Given the description of an element on the screen output the (x, y) to click on. 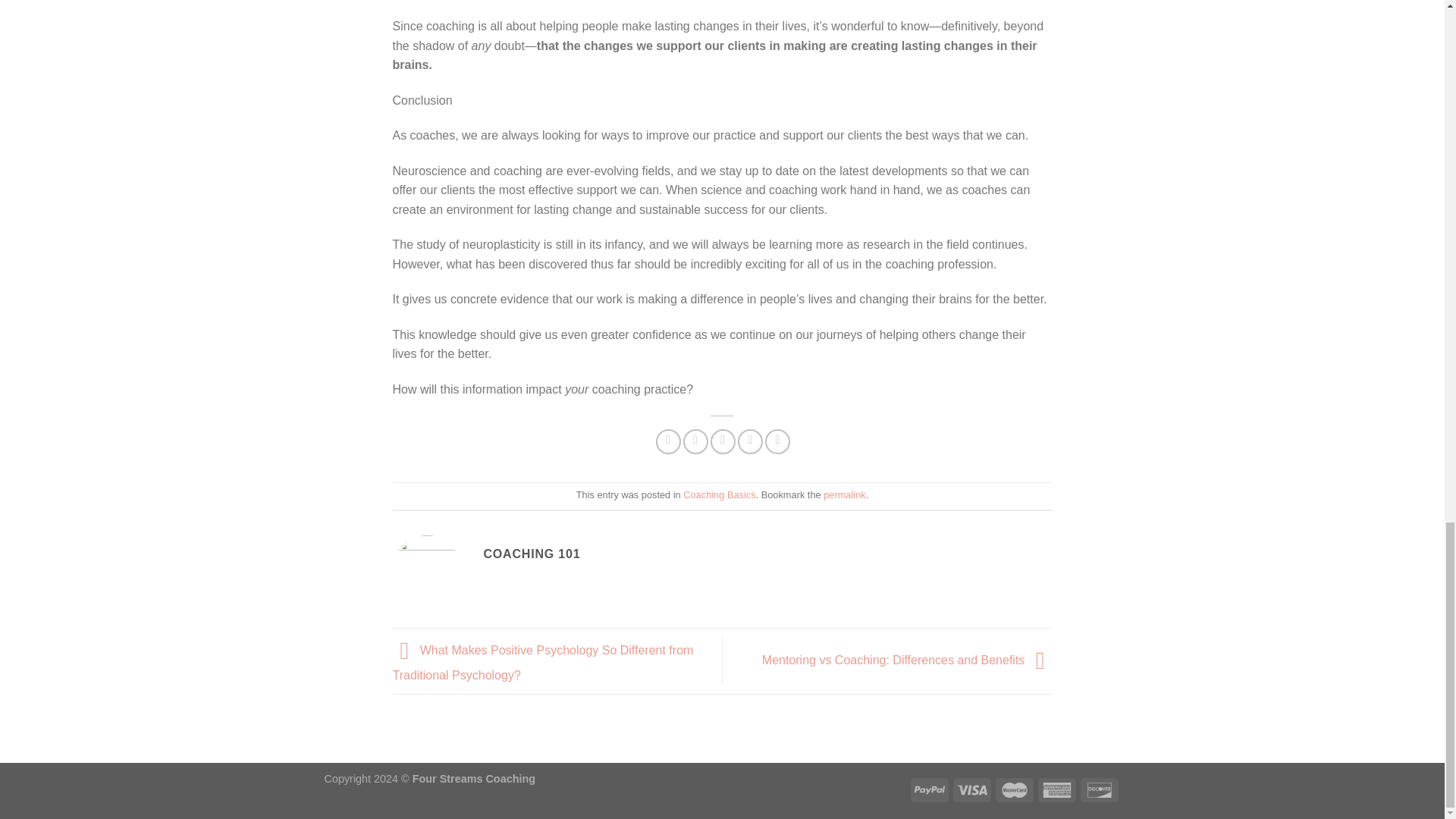
Email to a Friend (722, 441)
Share on Facebook (668, 441)
Share on LinkedIn (777, 441)
Share on Twitter (694, 441)
permalink (844, 494)
Mentoring vs Coaching: Differences and Benefits (906, 659)
Coaching Basics (718, 494)
Pin on Pinterest (750, 441)
